Given the description of an element on the screen output the (x, y) to click on. 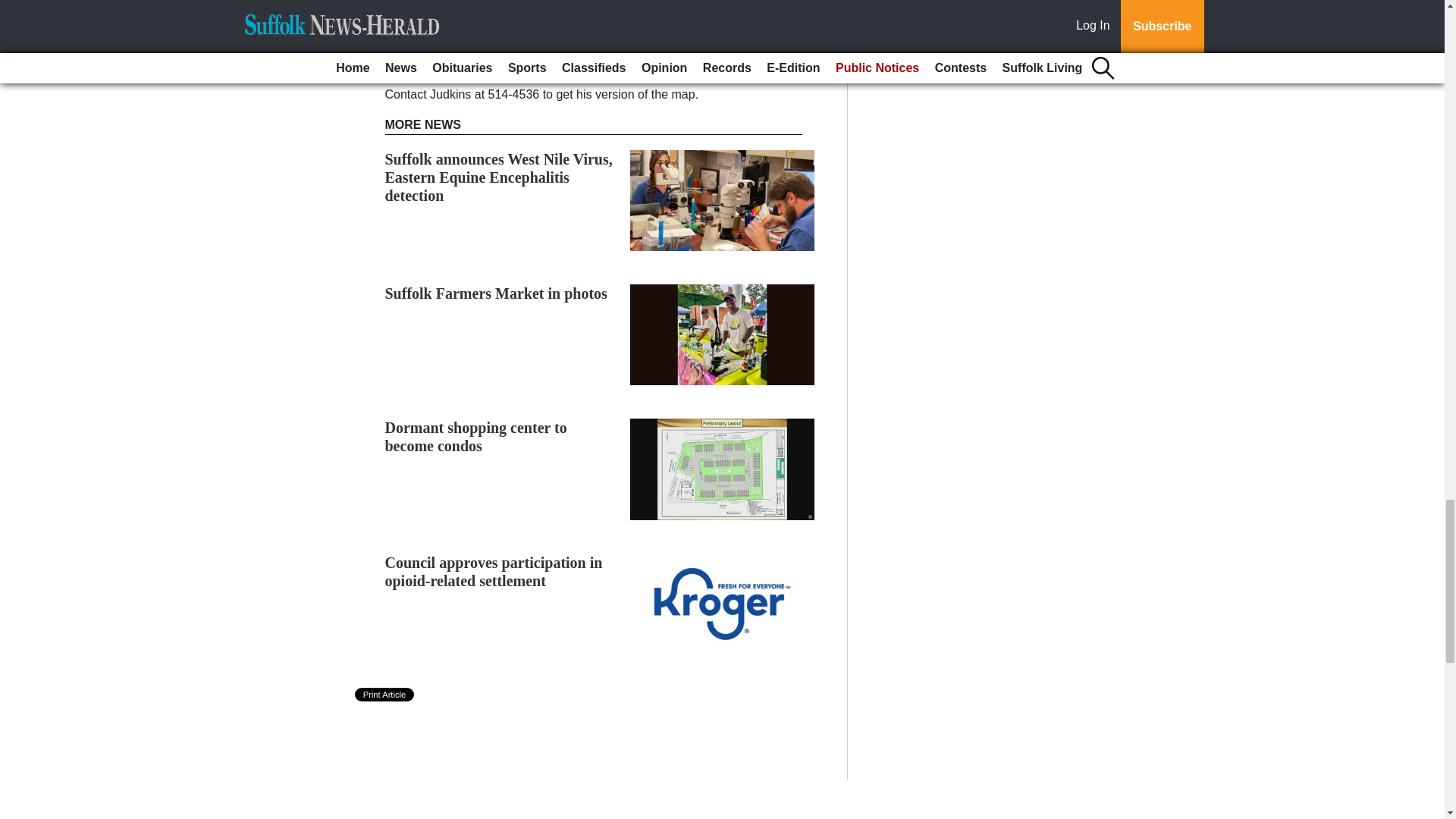
Suffolk Farmers Market in photos (496, 293)
Dormant shopping center to become condos (476, 436)
Council approves participation in opioid-related settlement (493, 571)
www.ReadyVirginia.gov (575, 45)
Council approves participation in opioid-related settlement (493, 571)
Print Article (384, 694)
Dormant shopping center to become condos (476, 436)
Suffolk Farmers Market in photos (496, 293)
